Given the description of an element on the screen output the (x, y) to click on. 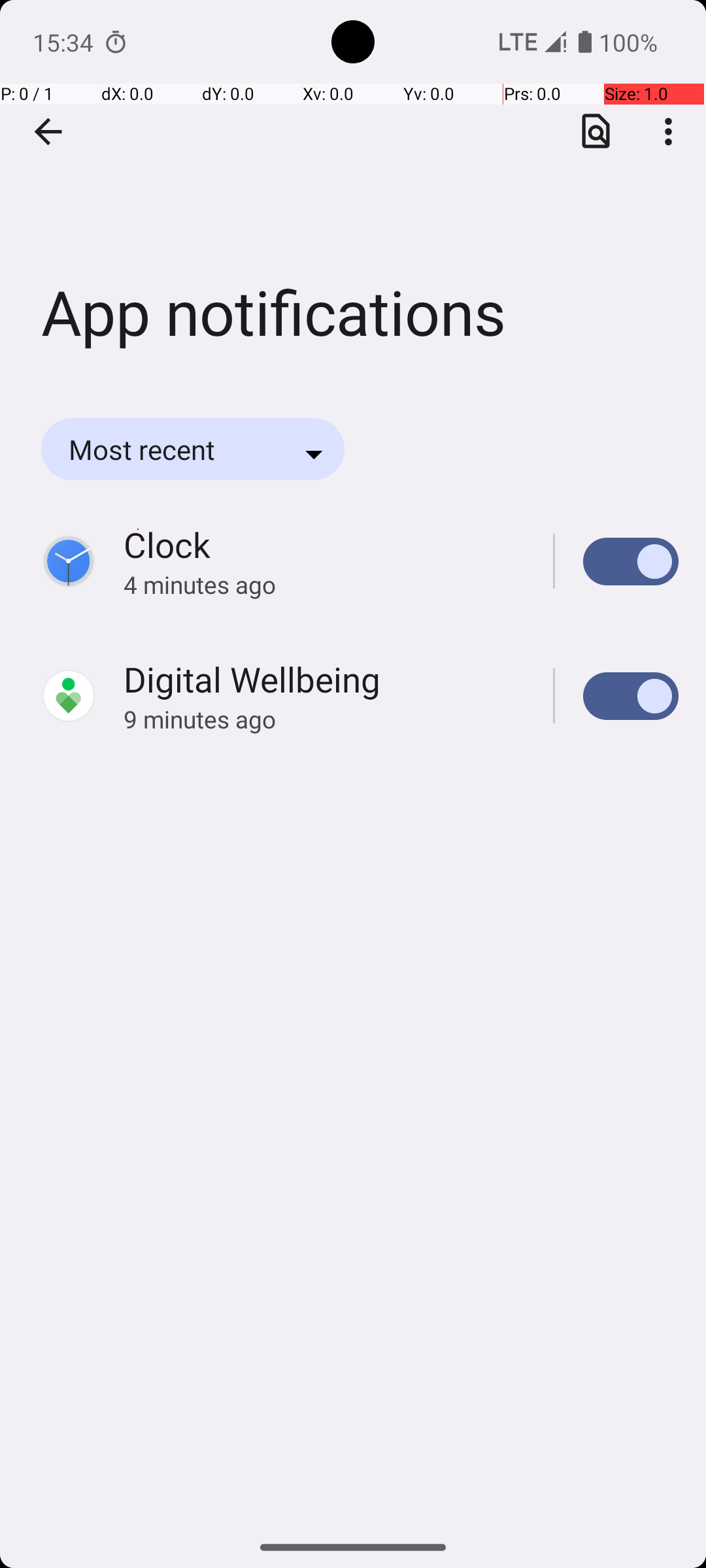
App notifications Element type: android.widget.FrameLayout (353, 195)
Most recent Element type: android.widget.TextView (159, 448)
4 minutes ago Element type: android.widget.TextView (324, 584)
Digital Wellbeing Element type: android.widget.TextView (252, 678)
9 minutes ago Element type: android.widget.TextView (324, 718)
